Given the description of an element on the screen output the (x, y) to click on. 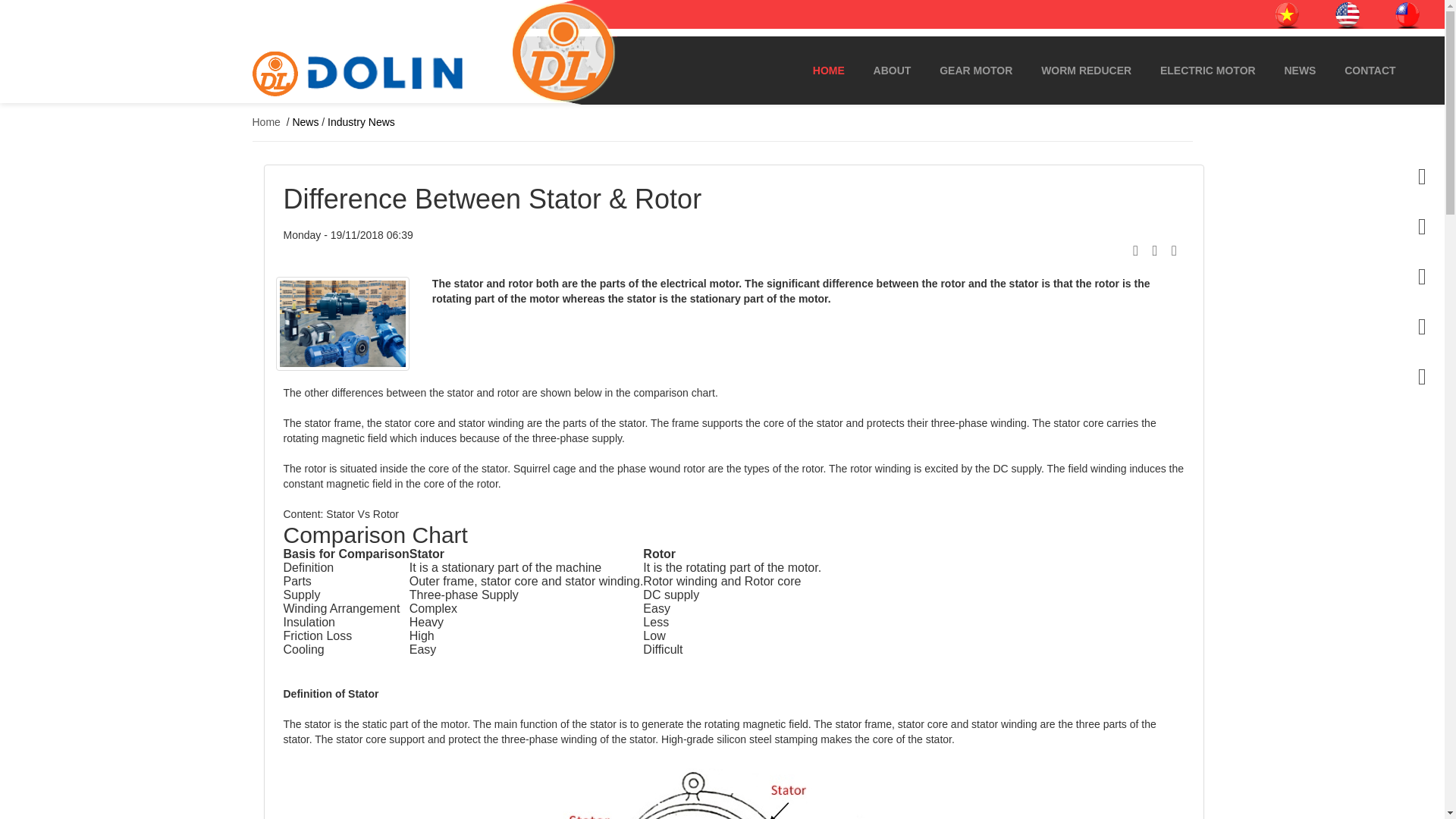
ELECTRIC MOTOR (1207, 70)
WORM REDUCER (1086, 70)
CONTACT (1368, 70)
Home (265, 121)
GEAR MOTOR (975, 70)
ABOUT (892, 70)
HOME (828, 70)
NEWS (1300, 70)
News (305, 121)
Industry News (360, 121)
